Given the description of an element on the screen output the (x, y) to click on. 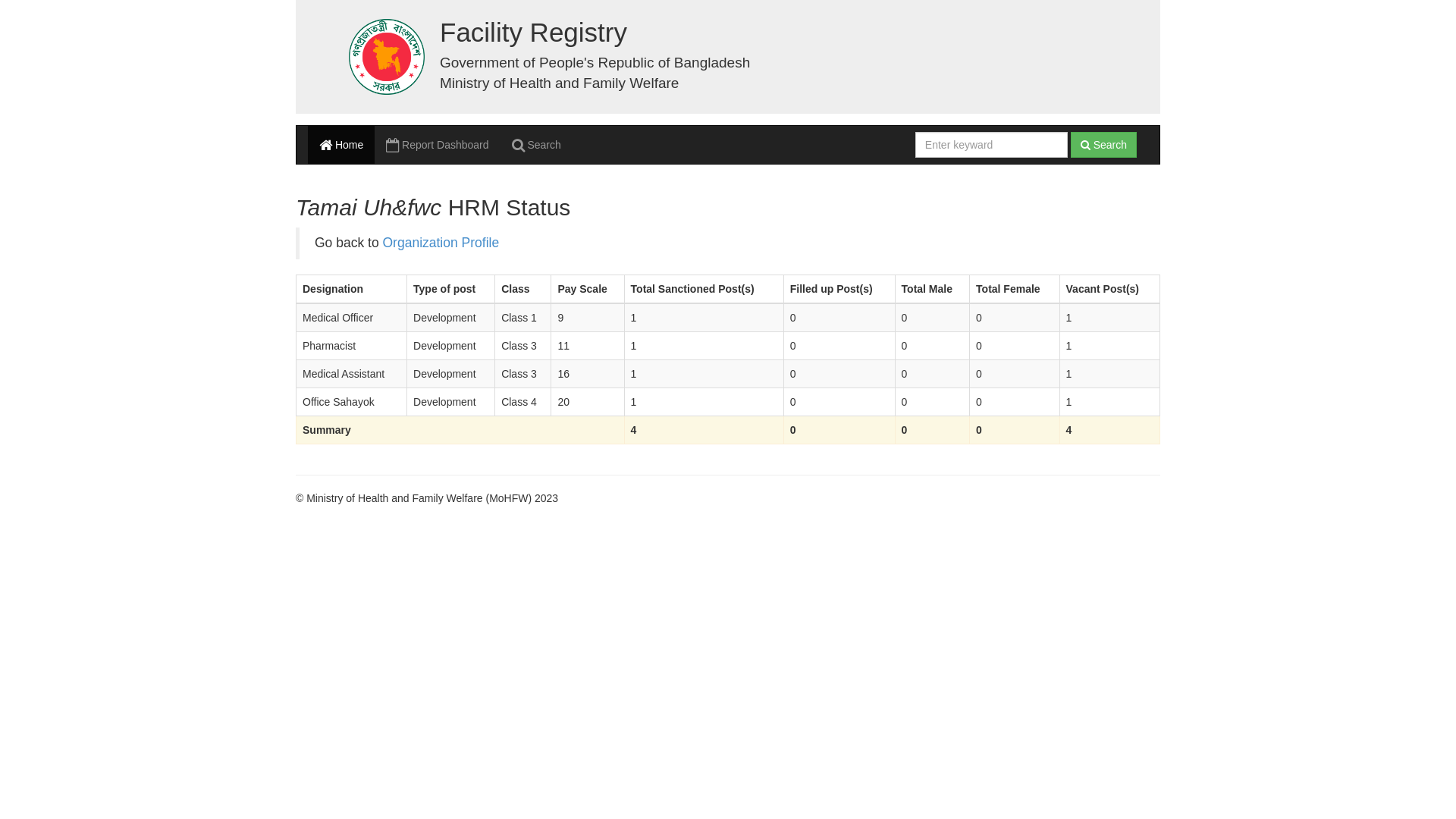
Search Element type: text (1103, 144)
Home Element type: text (340, 144)
Report Dashboard Element type: text (436, 144)
Search Element type: text (536, 144)
Organization Profile Element type: text (440, 242)
